Given the description of an element on the screen output the (x, y) to click on. 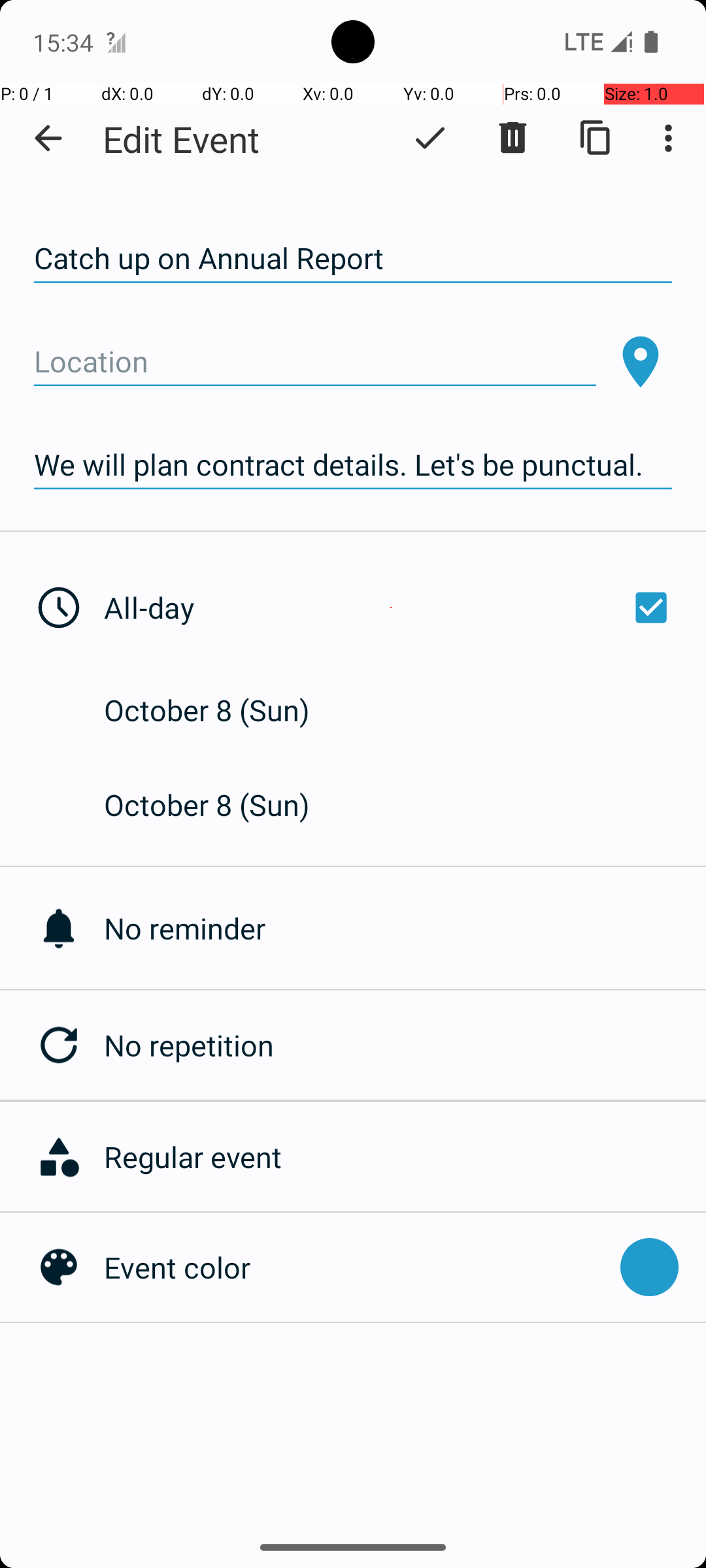
We will plan contract details. Let's be punctual. Element type: android.widget.EditText (352, 465)
October 8 (Sun) Element type: android.widget.TextView (220, 709)
